Given the description of an element on the screen output the (x, y) to click on. 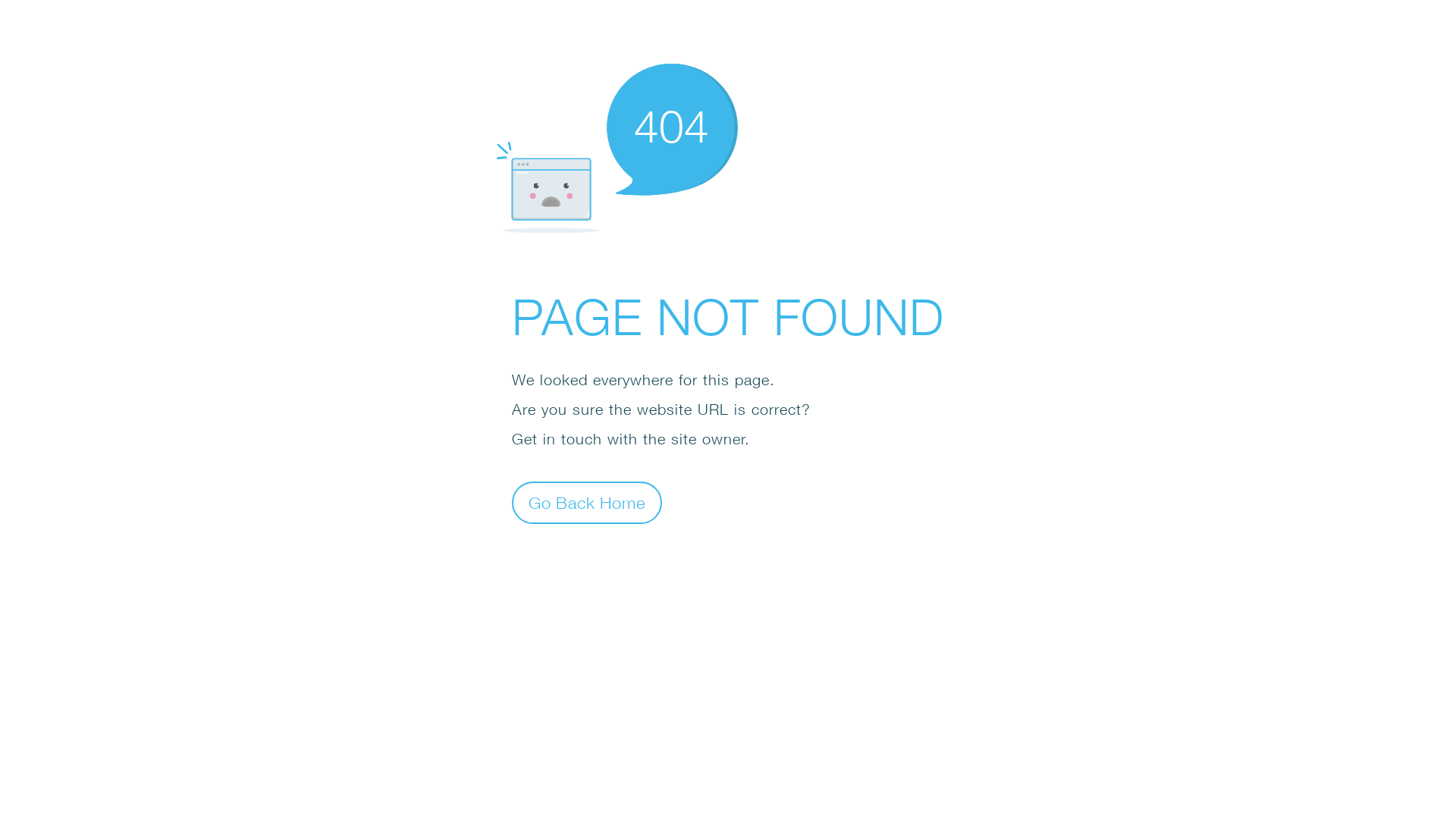
Go Back Home Element type: text (586, 502)
